Given the description of an element on the screen output the (x, y) to click on. 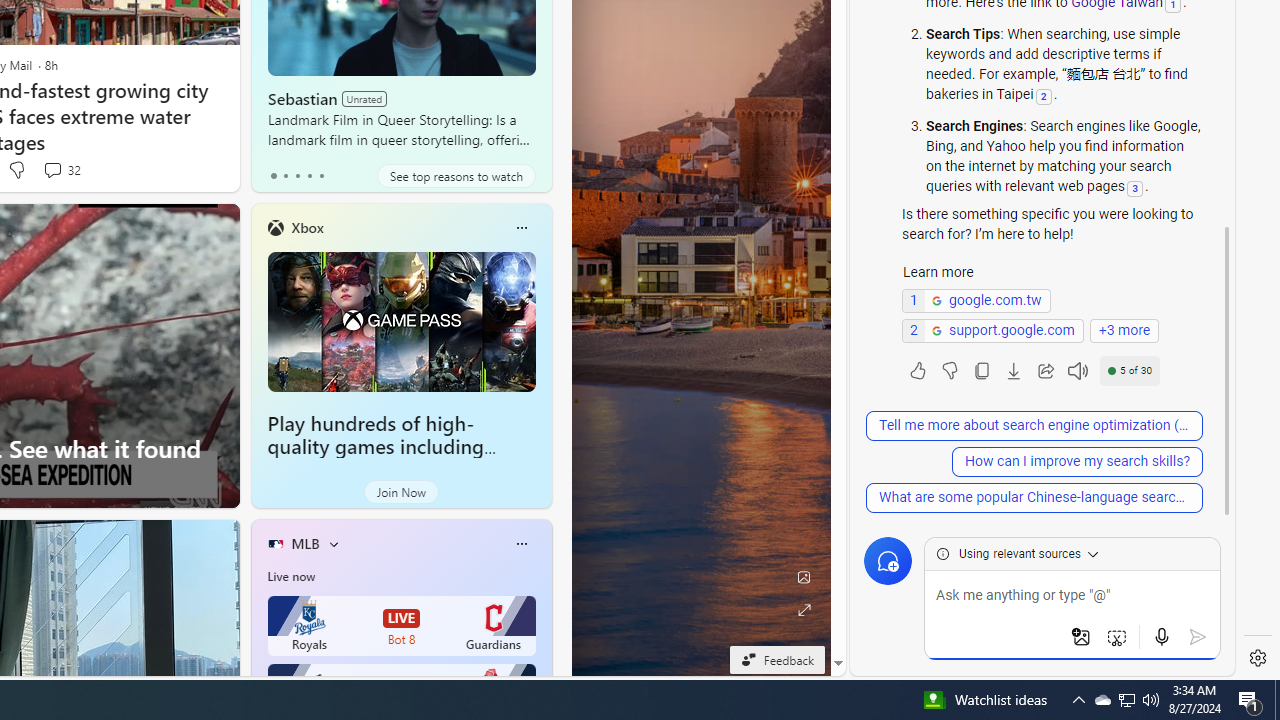
Expand background (803, 610)
tab-3 (309, 175)
Royals LIVE Bot 8 Guardians (401, 625)
More interests (333, 543)
View comments 32 Comment (61, 170)
Edit Background (803, 577)
tab-1 (285, 175)
tab-4 (320, 175)
View comments 32 Comment (52, 169)
MLB (305, 543)
